Given the description of an element on the screen output the (x, y) to click on. 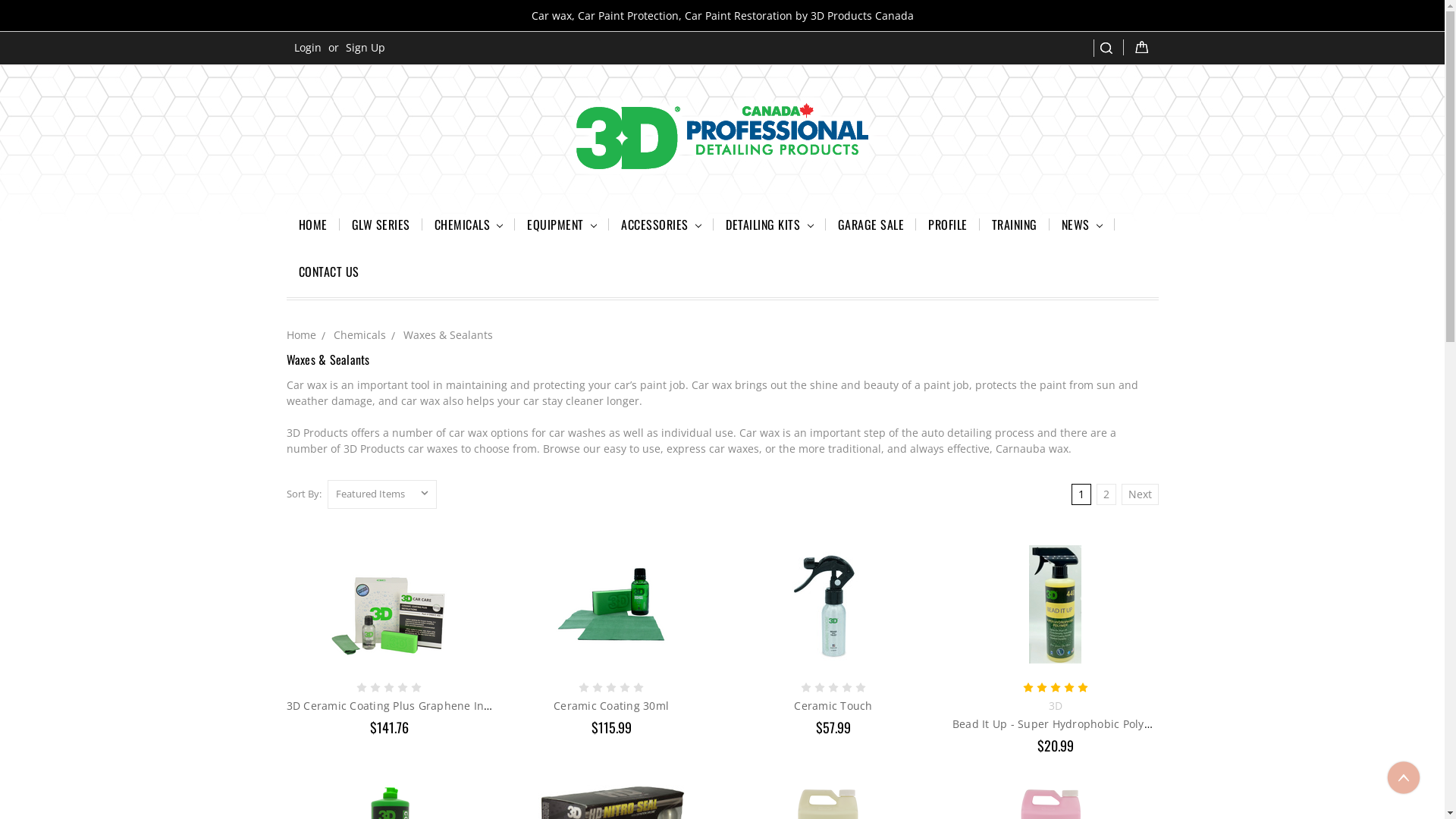
3D Ceramic Coating  Plus Graphene Infused Kit - 30ml Element type: hover (388, 604)
Search Element type: text (1108, 47)
HOME Element type: text (312, 226)
2 Element type: text (1106, 494)
Ceramic Coating 30ml Element type: text (610, 705)
Next Element type: text (1138, 494)
Login Element type: text (307, 47)
ACCESSORIES Element type: text (660, 226)
Home Element type: text (301, 334)
Ceramic Coating 30ml Element type: hover (611, 604)
GLW SERIES Element type: text (380, 226)
Chemicals Element type: text (359, 334)
CONTACT US Element type: text (328, 273)
PROFILE Element type: text (947, 226)
DETAILING KITS Element type: text (769, 226)
3D PRODUCTS CANADA Element type: hover (722, 136)
Bead It Up - Super Hydrophobic Polymer Sealant Element type: text (1080, 723)
Ceramic Touch Element type: text (832, 705)
express car waxes Element type: text (711, 448)
TRAINING Element type: text (1014, 226)
Cart Element type: text (1140, 47)
GARAGE SALE Element type: text (870, 226)
EQUIPMENT Element type: text (561, 226)
Sign Up Element type: text (365, 47)
Waxes & Sealants Element type: text (447, 334)
CHEMICALS Element type: text (467, 226)
Carnauba wax Element type: text (1030, 448)
Bead It Up - Super Hydrophobic Polymer Sealant Element type: hover (1055, 604)
1 Element type: text (1080, 494)
NEWS Element type: text (1081, 226)
3D Ceramic Coating Plus Graphene Infused Kit - 30ml Element type: text (426, 705)
